Given the description of an element on the screen output the (x, y) to click on. 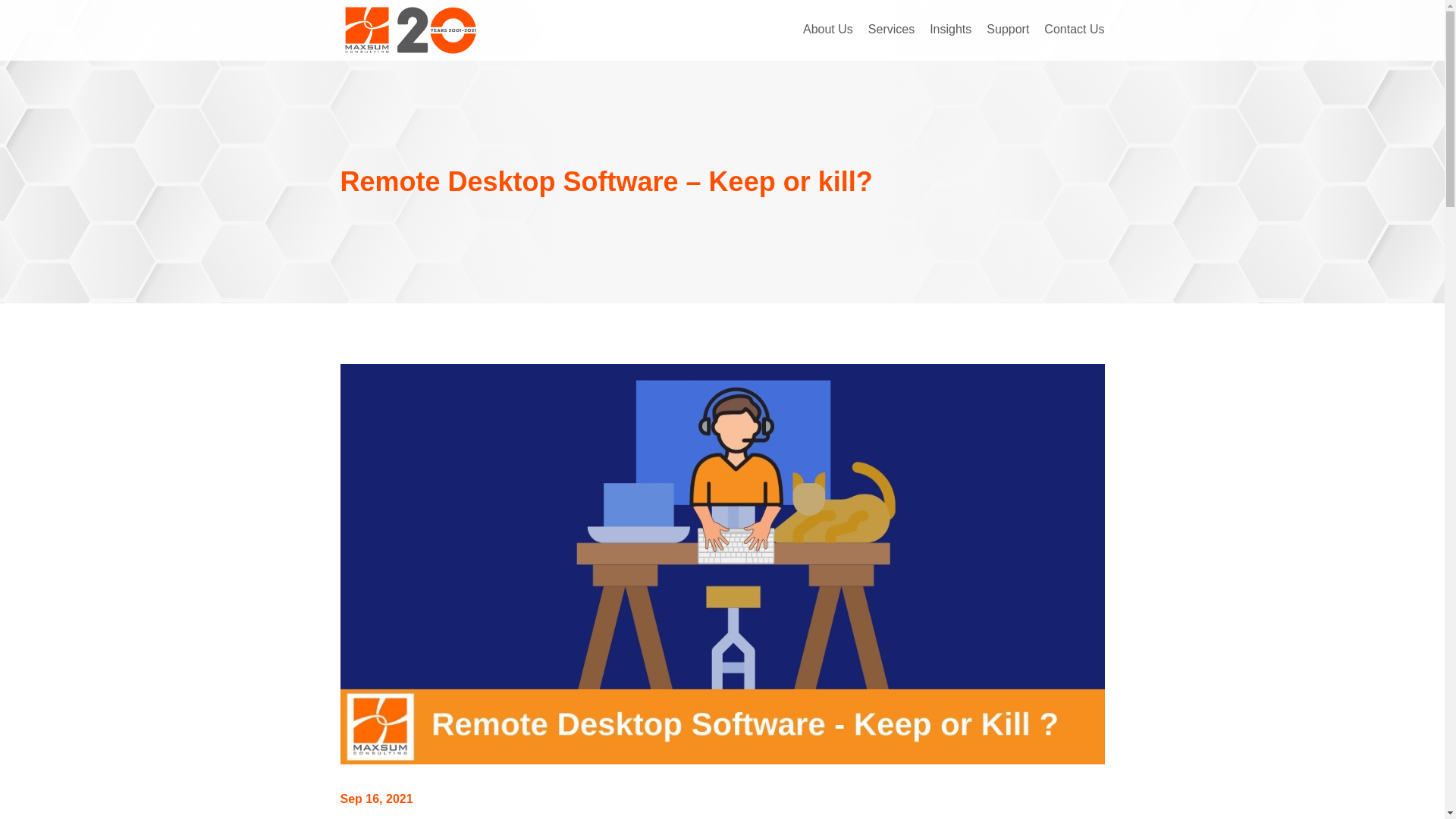
Insights (950, 30)
Support (1008, 30)
Contact Us (1073, 30)
About Us (828, 30)
Services (890, 30)
